Given the description of an element on the screen output the (x, y) to click on. 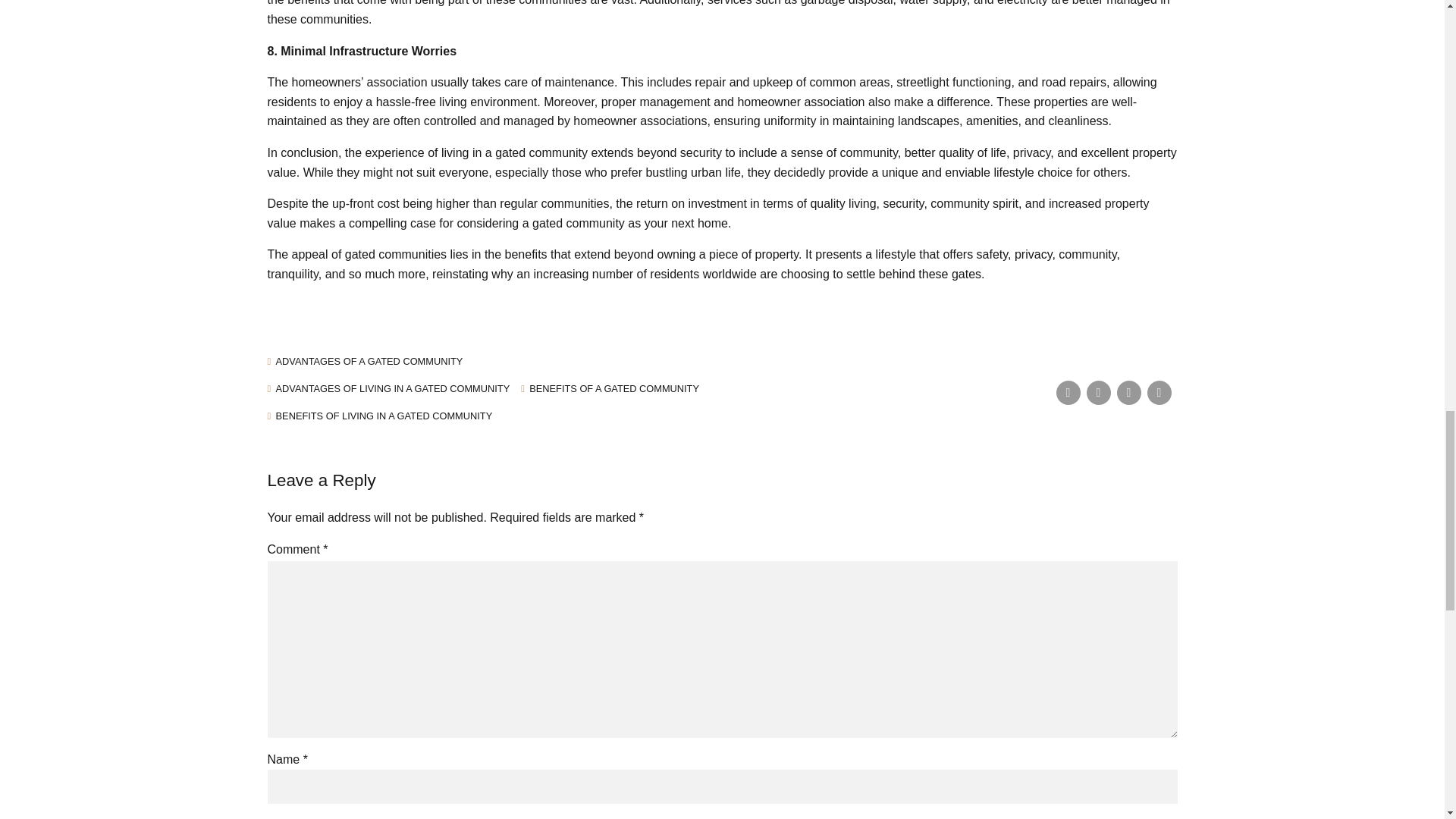
Share on Twitter (1097, 392)
Share on WhatsApp (1158, 392)
Share on Facebook (1067, 392)
Share on Linkedin (1128, 392)
